Given the description of an element on the screen output the (x, y) to click on. 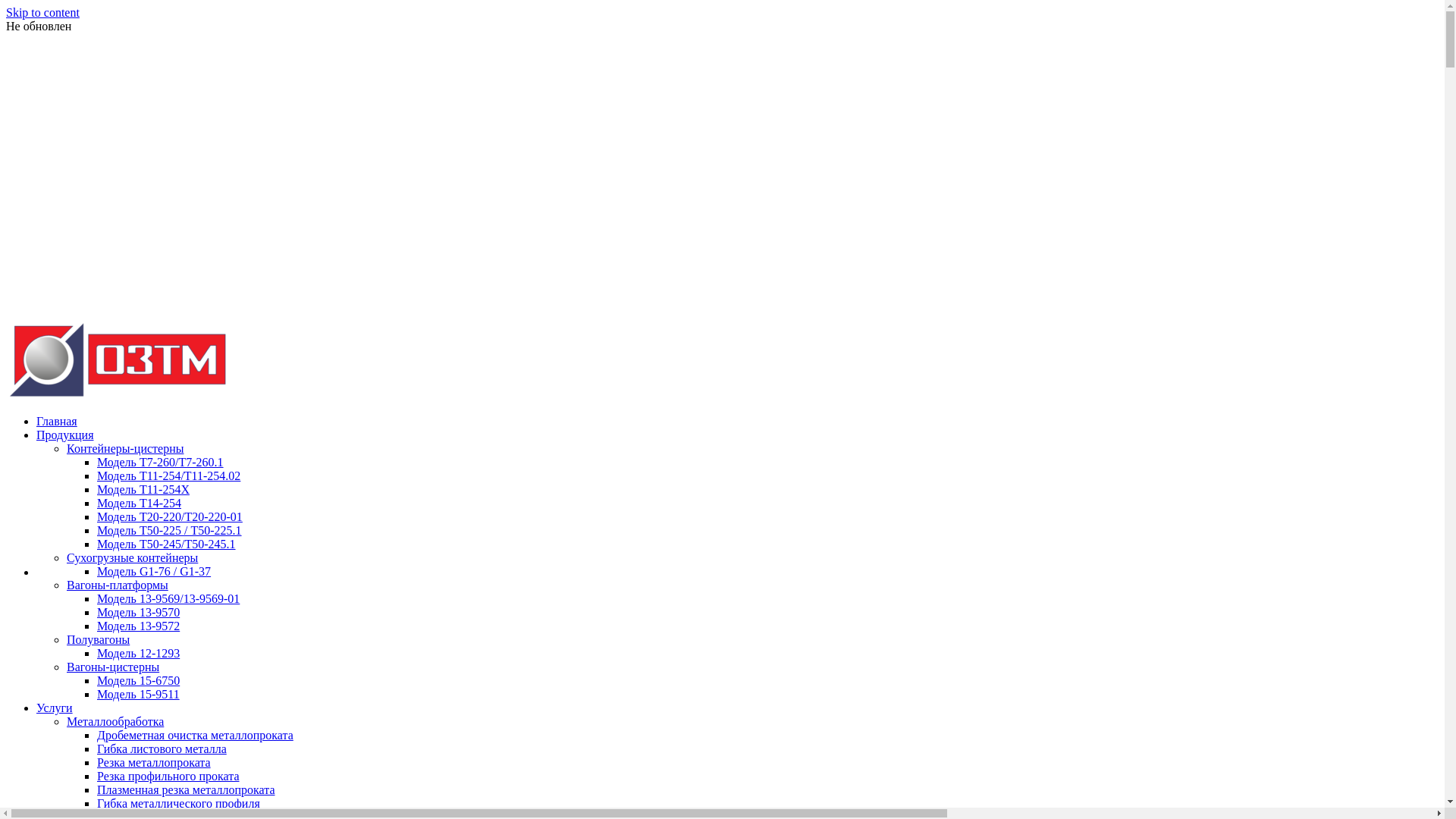
Skip to content Element type: text (42, 12)
